Given the description of an element on the screen output the (x, y) to click on. 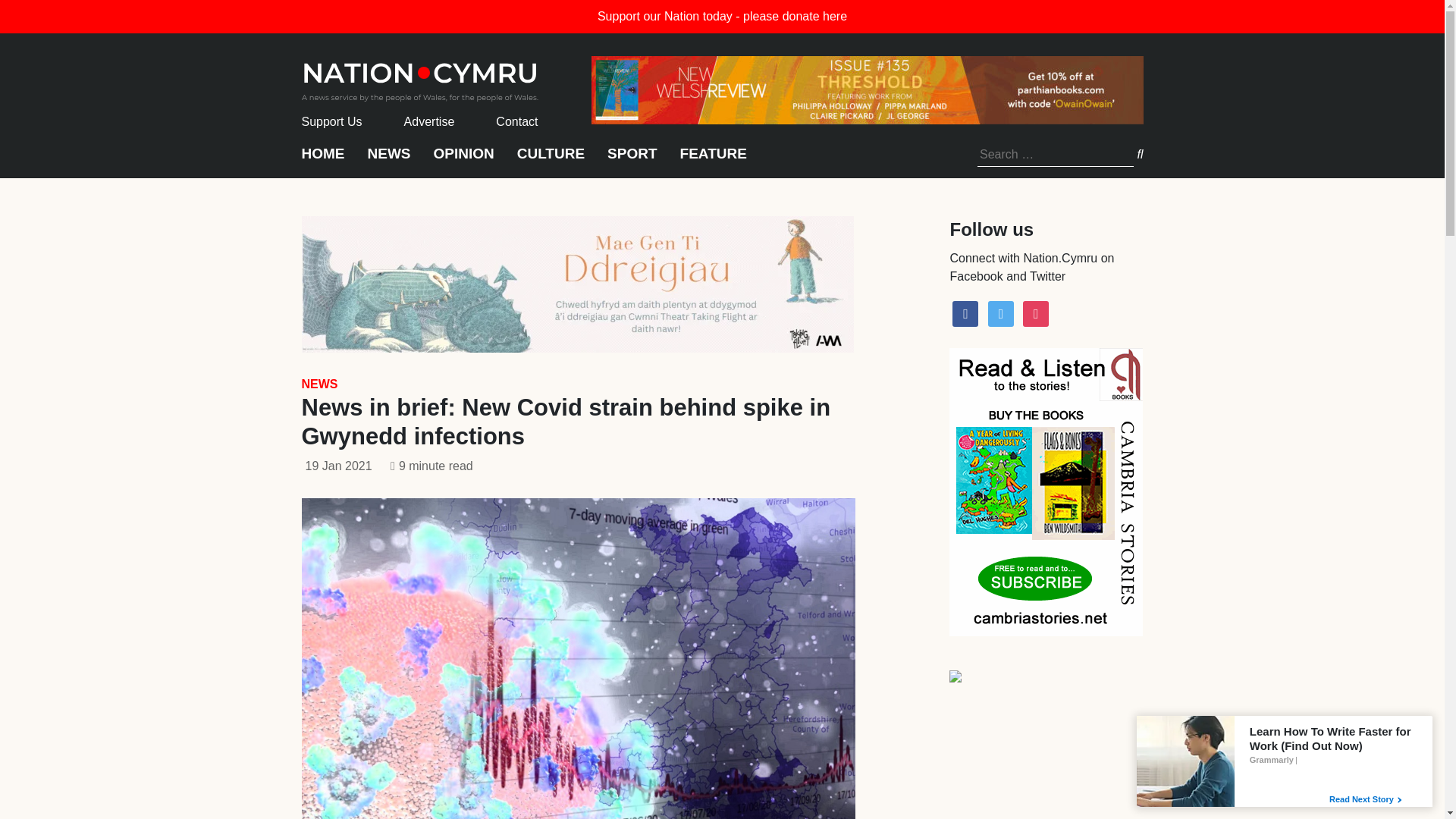
CULTURE (550, 160)
Contact (516, 121)
HOME (323, 160)
Support Us (331, 121)
SPORT (631, 160)
NEWS (319, 383)
Advertise (429, 121)
OPINION (464, 160)
NEWS (388, 160)
home (419, 77)
FEATURE (712, 160)
